Given the description of an element on the screen output the (x, y) to click on. 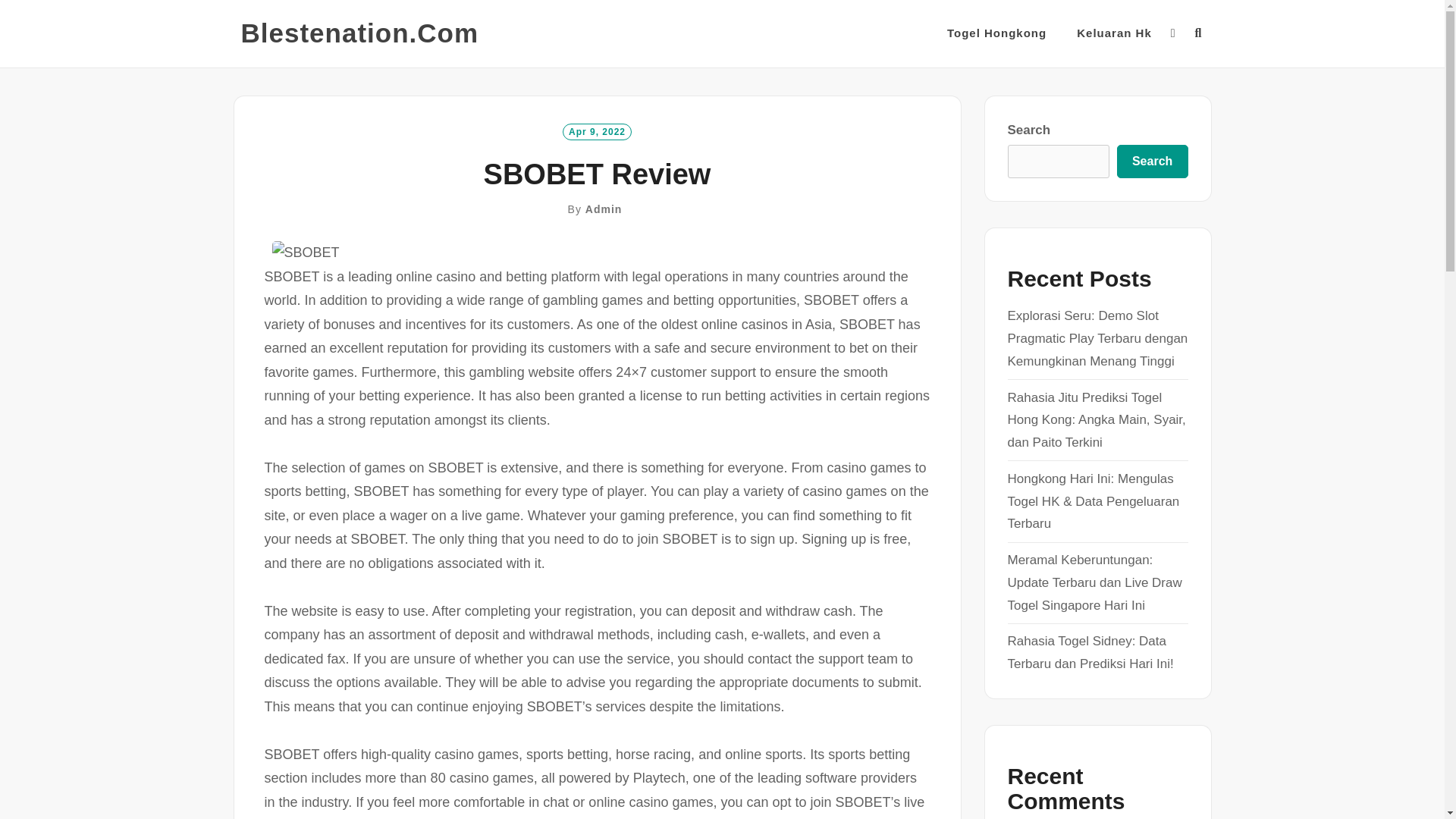
Togel Hongkong (996, 33)
Apr 9, 2022 (596, 130)
Rahasia Togel Sidney: Data Terbaru dan Prediksi Hari Ini! (1090, 651)
Admin (604, 209)
Search (1152, 161)
Keluaran Hk (1114, 33)
Blestenation.Com (360, 33)
